Given the description of an element on the screen output the (x, y) to click on. 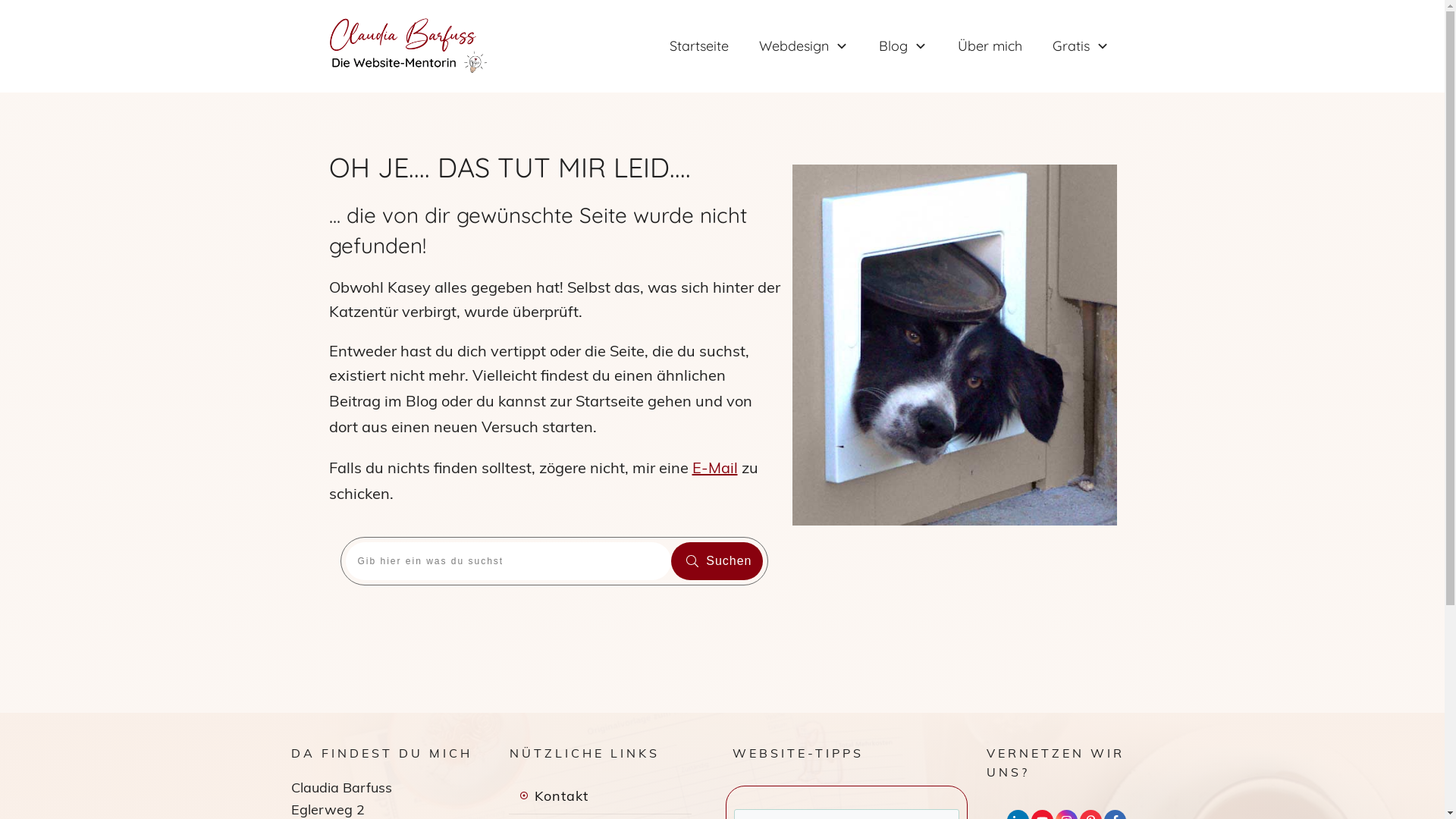
Blog Element type: text (902, 45)
Suchen Element type: text (716, 561)
Kontakt Element type: text (553, 795)
Startseite Element type: text (698, 45)
Startseite Element type: text (608, 400)
Gratis Element type: text (1080, 45)
Webdesign Element type: text (802, 45)
E-Mail Element type: text (714, 467)
